Given the description of an element on the screen output the (x, y) to click on. 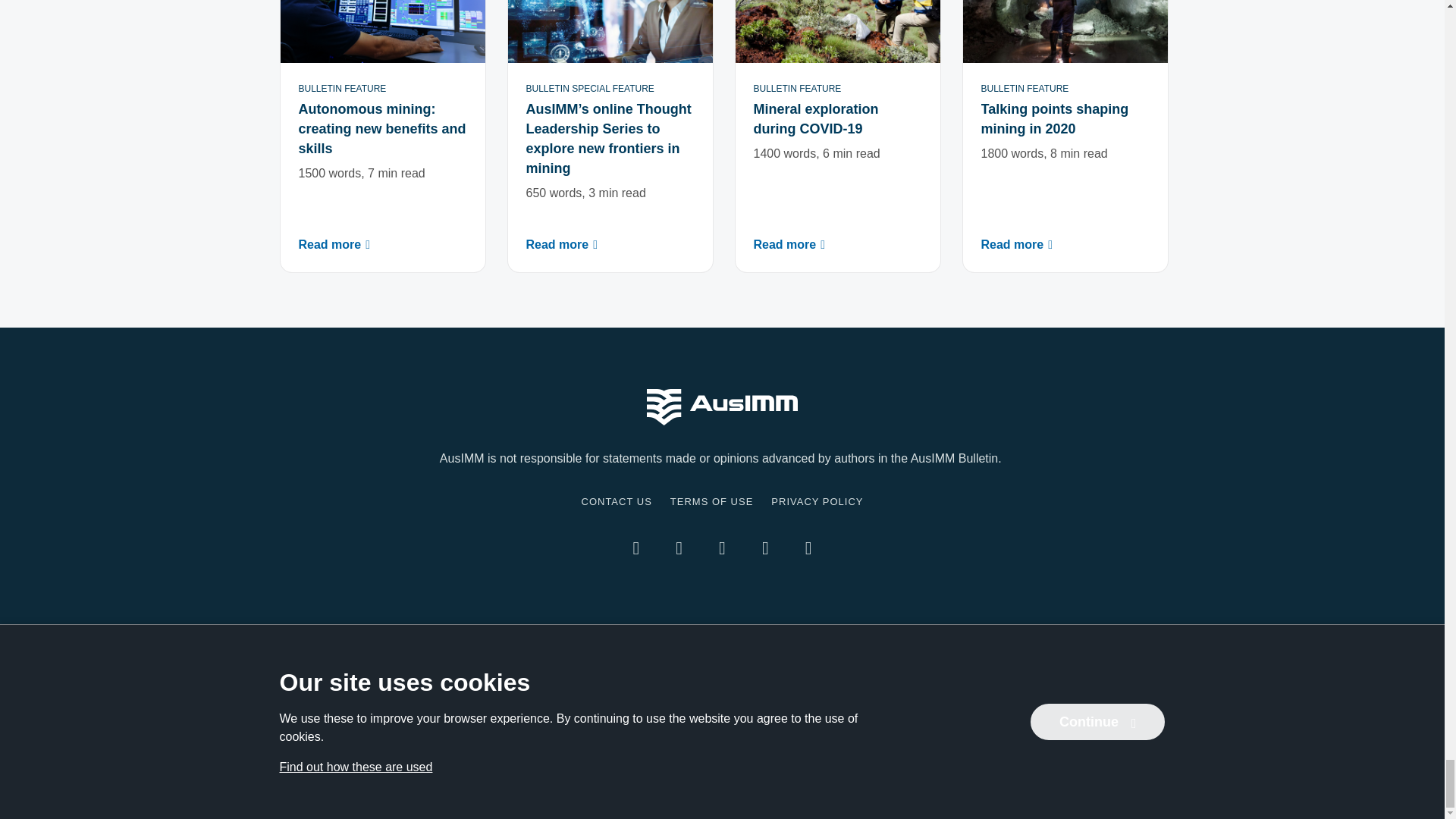
Terms of use (711, 501)
Contact us (615, 501)
